Given the description of an element on the screen output the (x, y) to click on. 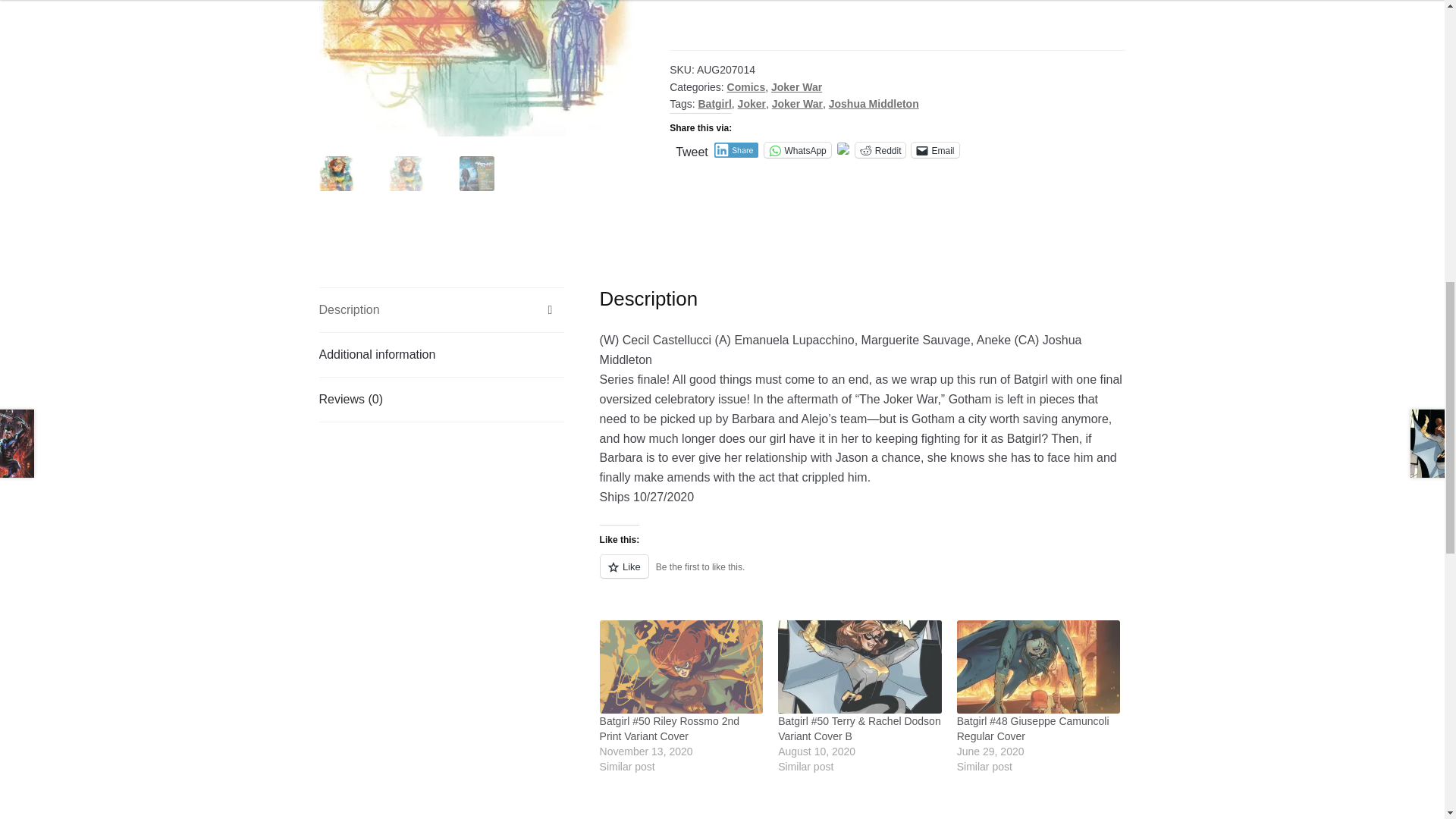
Click to share on Reddit (880, 150)
PayPal (897, 24)
Like or Reblog (862, 575)
Click to email a link to a friend (934, 150)
Click to share on WhatsApp (796, 150)
batgirl 50 middleton A (792, 67)
batgirl 50 middleton A (476, 67)
